Given the description of an element on the screen output the (x, y) to click on. 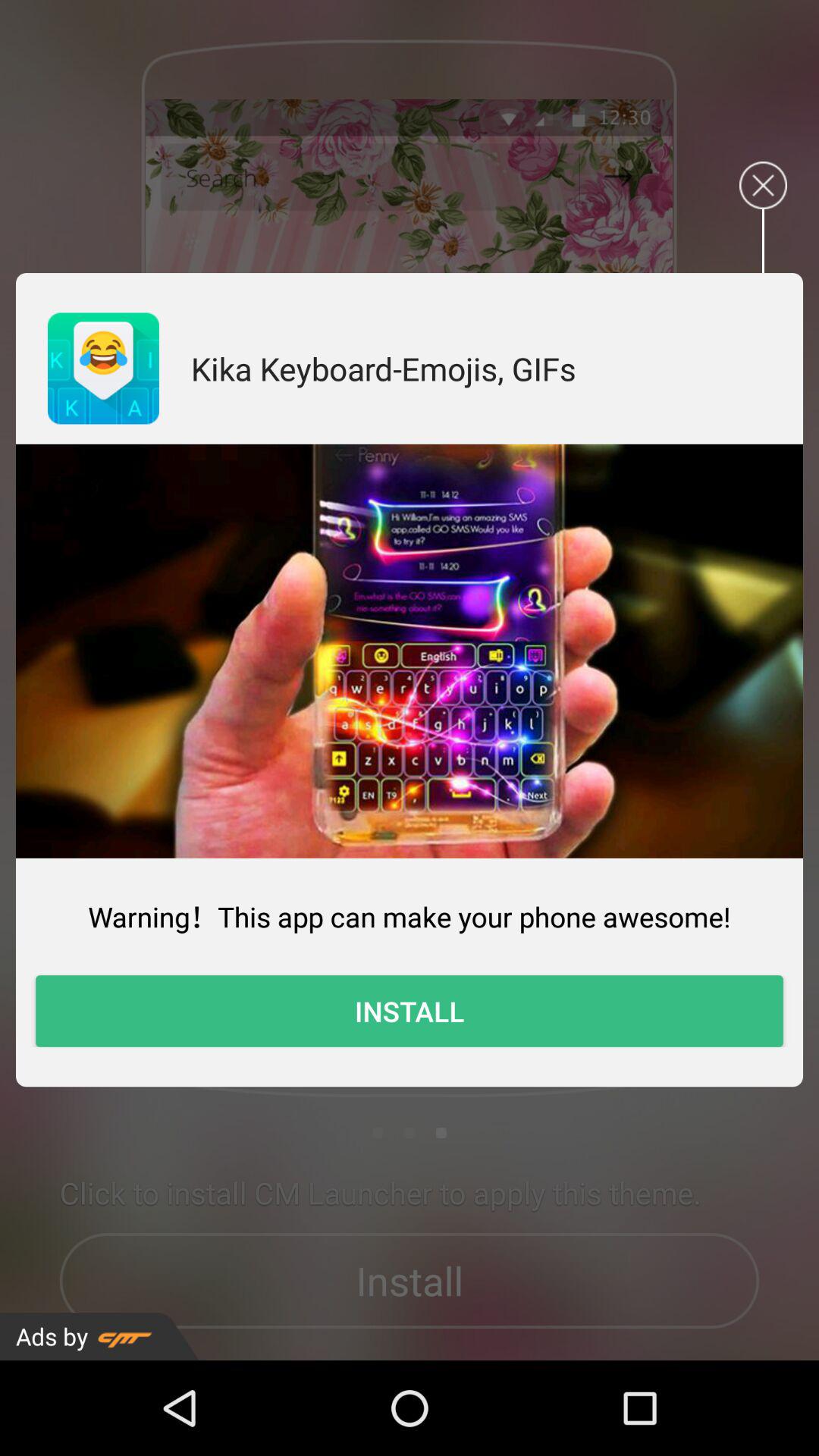
press button above install button (409, 916)
